Given the description of an element on the screen output the (x, y) to click on. 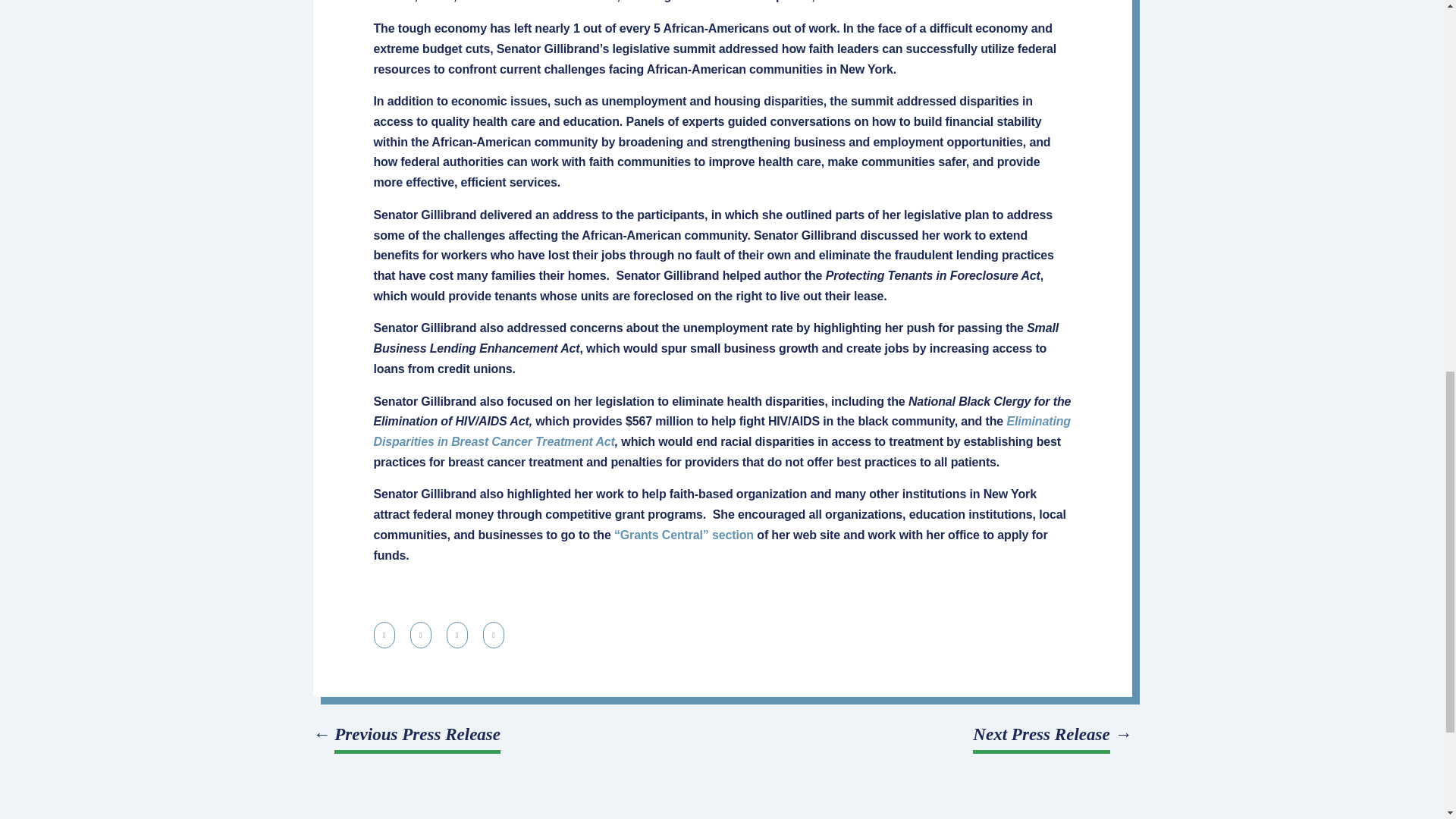
Print (383, 634)
Email (420, 634)
Share on Facebook (456, 634)
Tweet (493, 634)
